Given the description of an element on the screen output the (x, y) to click on. 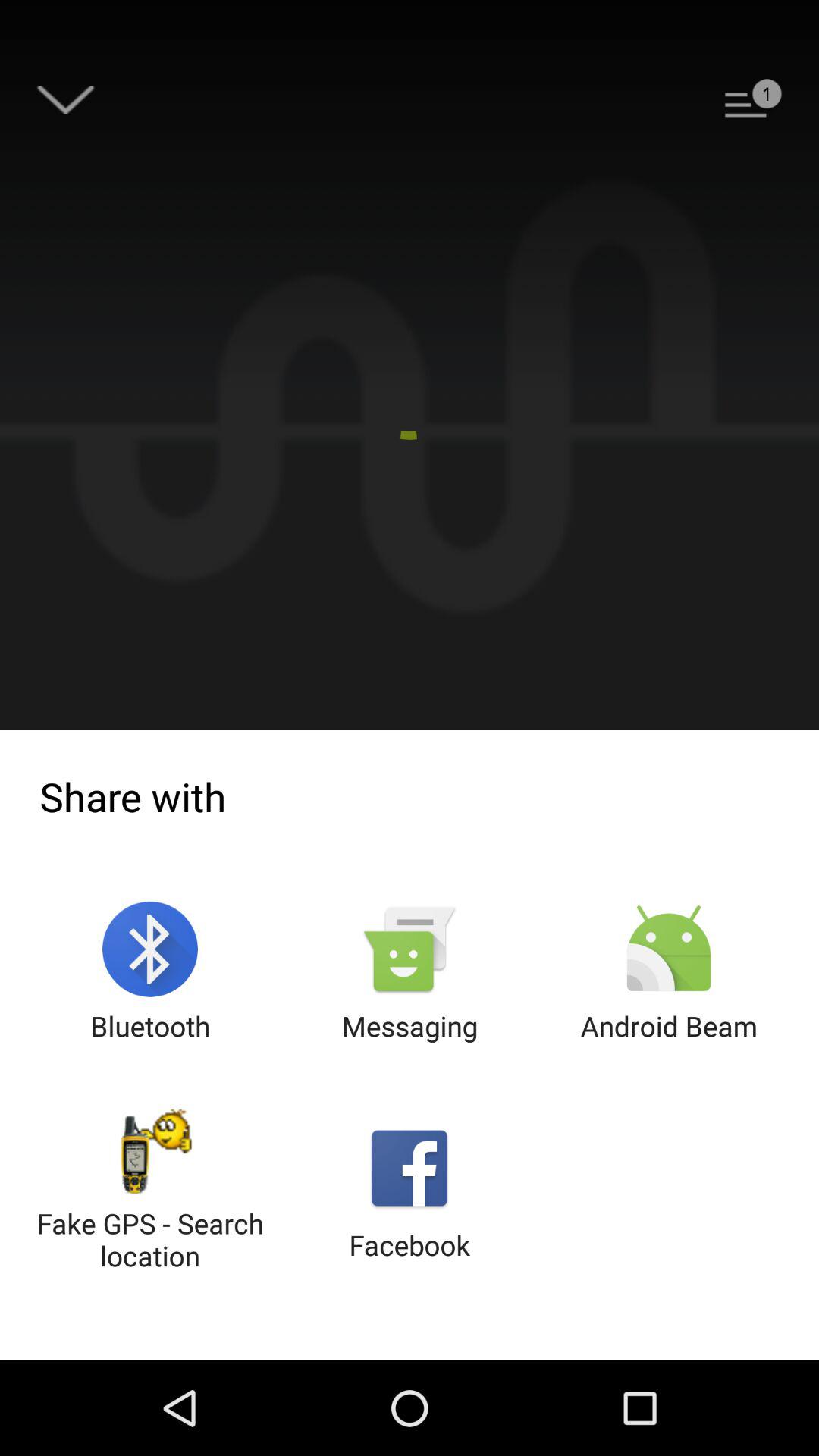
open fake gps search item (150, 1191)
